Given the description of an element on the screen output the (x, y) to click on. 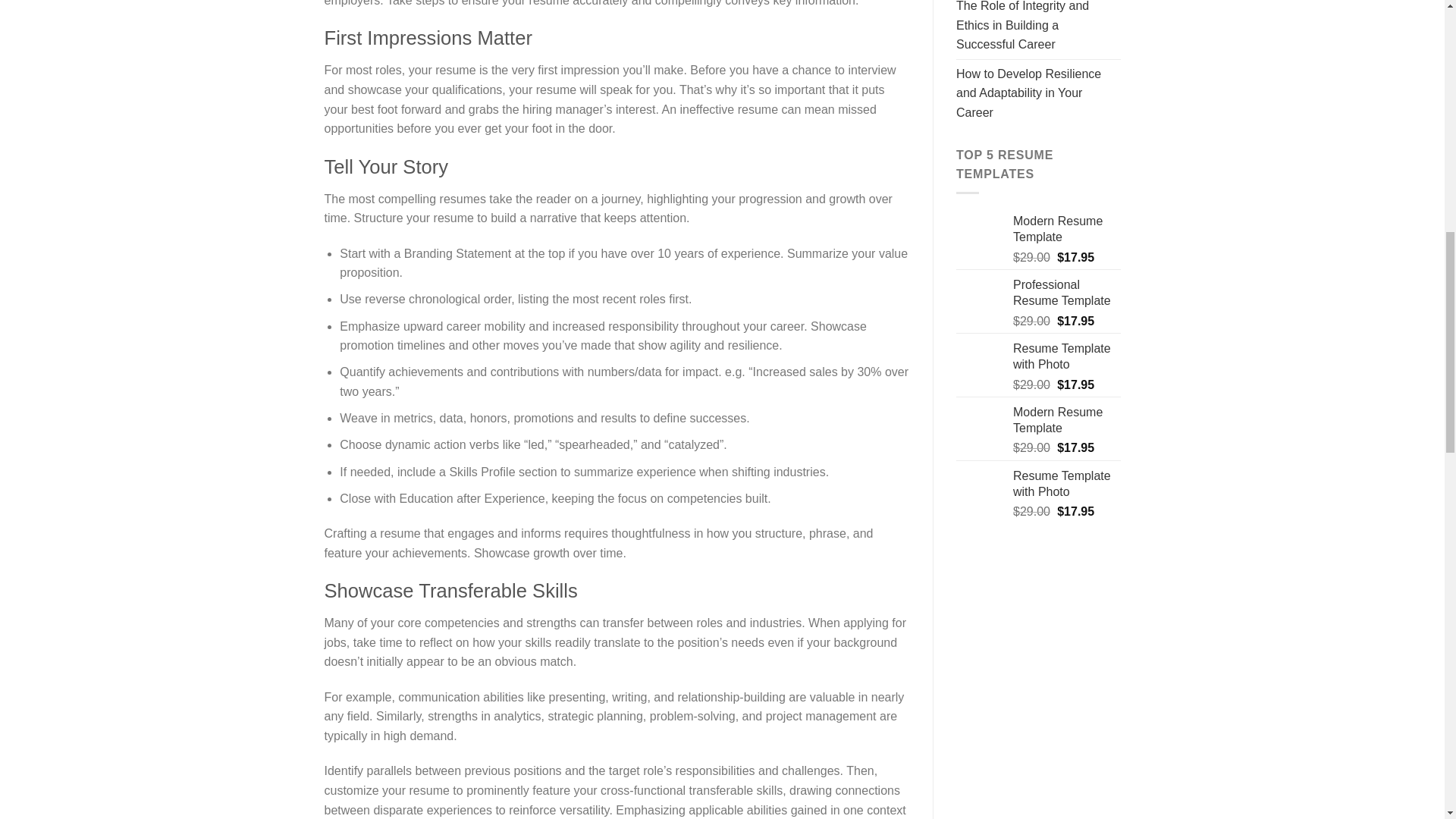
How to Develop Resilience and Adaptability in Your Career (1038, 93)
Resume Template with Photo (1067, 484)
Modern Resume Template (1067, 229)
Modern Resume Template (1067, 420)
Resume Template with Photo (1067, 357)
Professional Resume Template (1067, 293)
